Given the description of an element on the screen output the (x, y) to click on. 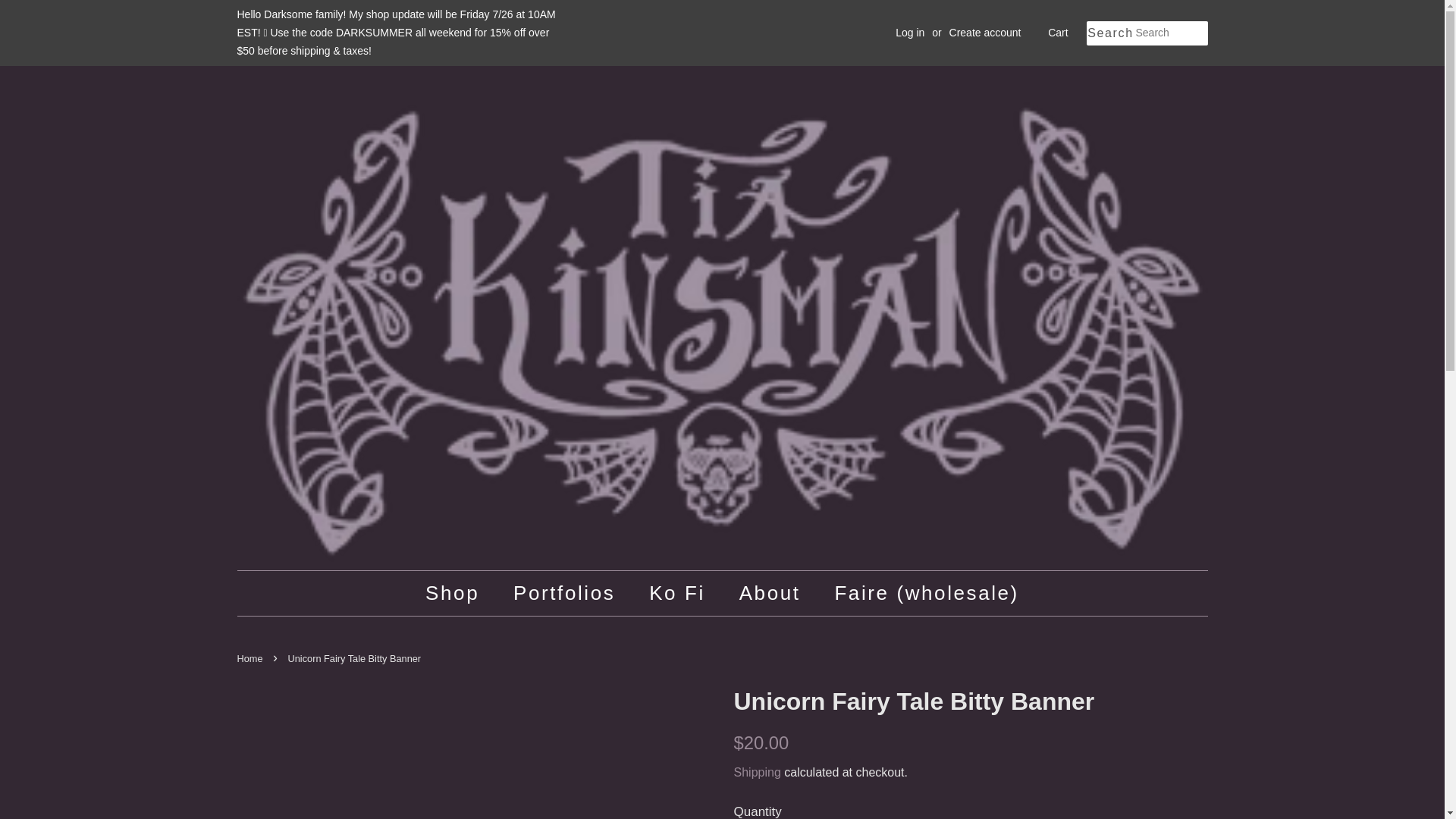
Cart (1057, 33)
Shop (460, 592)
Log in (909, 32)
Back to the frontpage (250, 658)
Search (1110, 33)
Create account (985, 32)
